Given the description of an element on the screen output the (x, y) to click on. 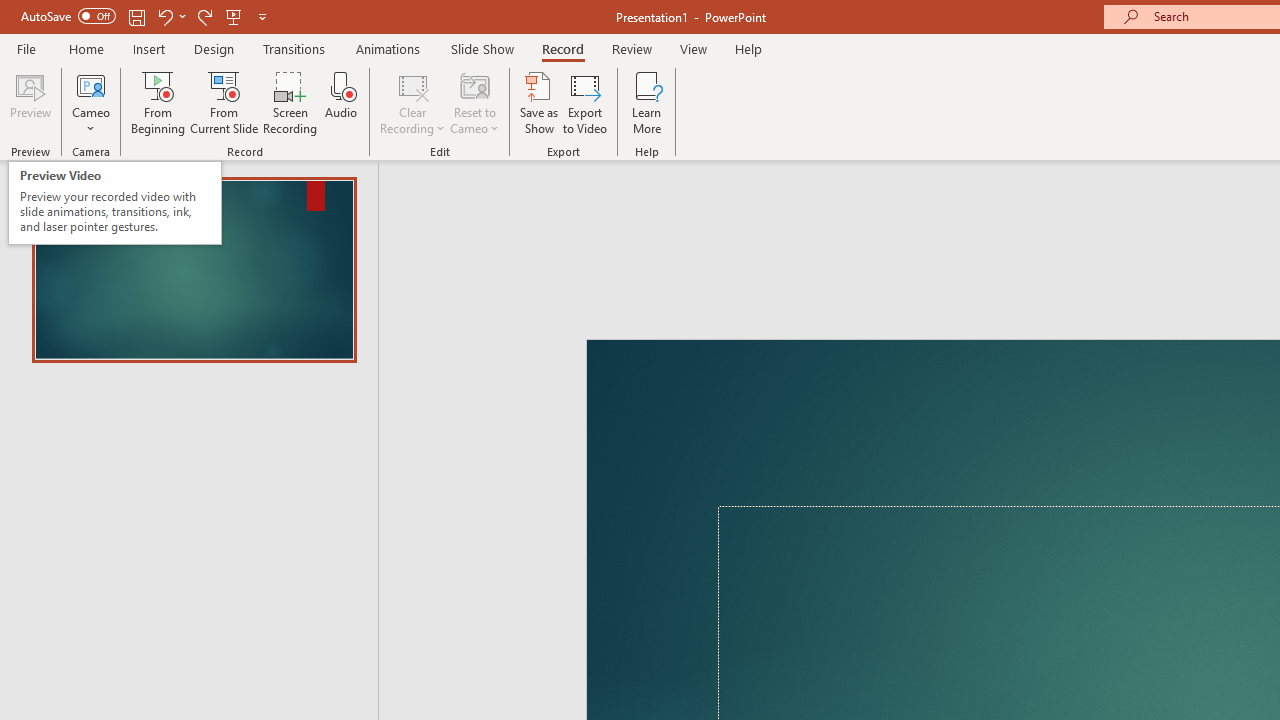
From Current Slide... (224, 102)
Export to Video (585, 102)
From Beginning... (158, 102)
